Given the description of an element on the screen output the (x, y) to click on. 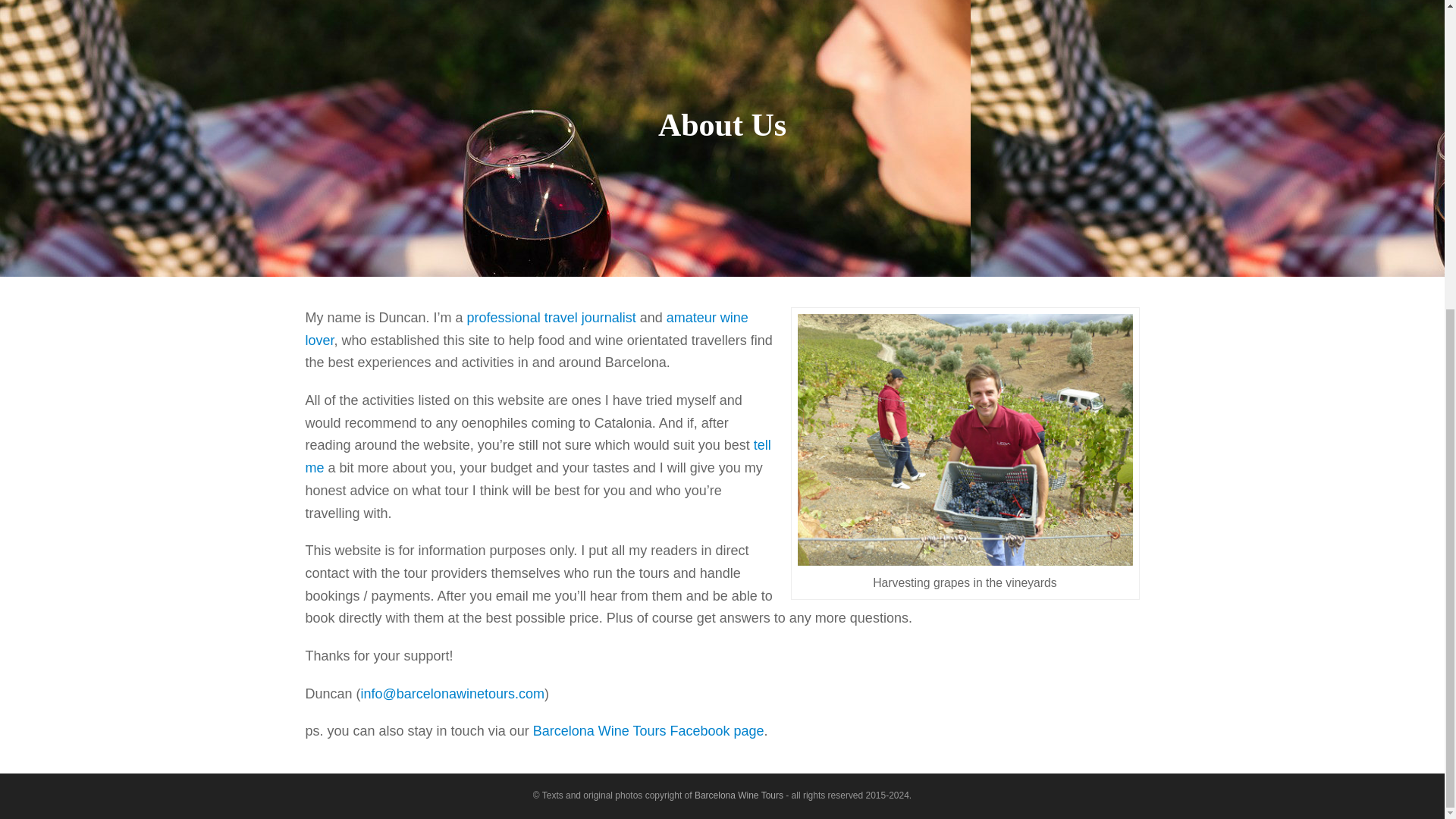
tell me (537, 456)
Barcelona Wine Tours (738, 795)
professional travel journalist (551, 317)
Barcelona Wine Tours Facebook page (648, 730)
amateur wine lover (526, 329)
